Given the description of an element on the screen output the (x, y) to click on. 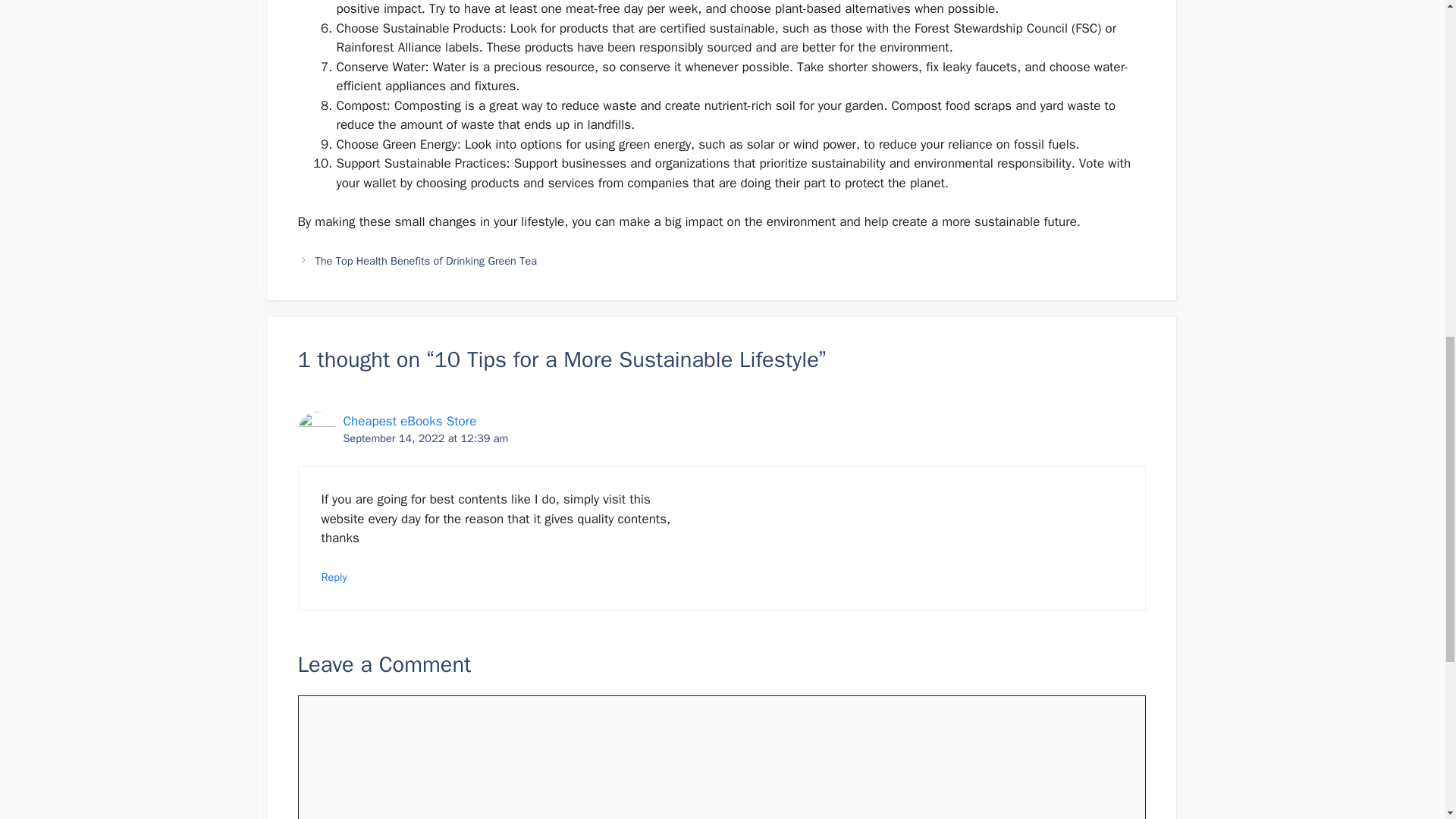
Cheapest eBooks Store (409, 421)
Scroll back to top (1406, 720)
The Top Health Benefits of Drinking Green Tea (426, 260)
Reply (334, 576)
September 14, 2022 at 12:39 am (425, 438)
